Given the description of an element on the screen output the (x, y) to click on. 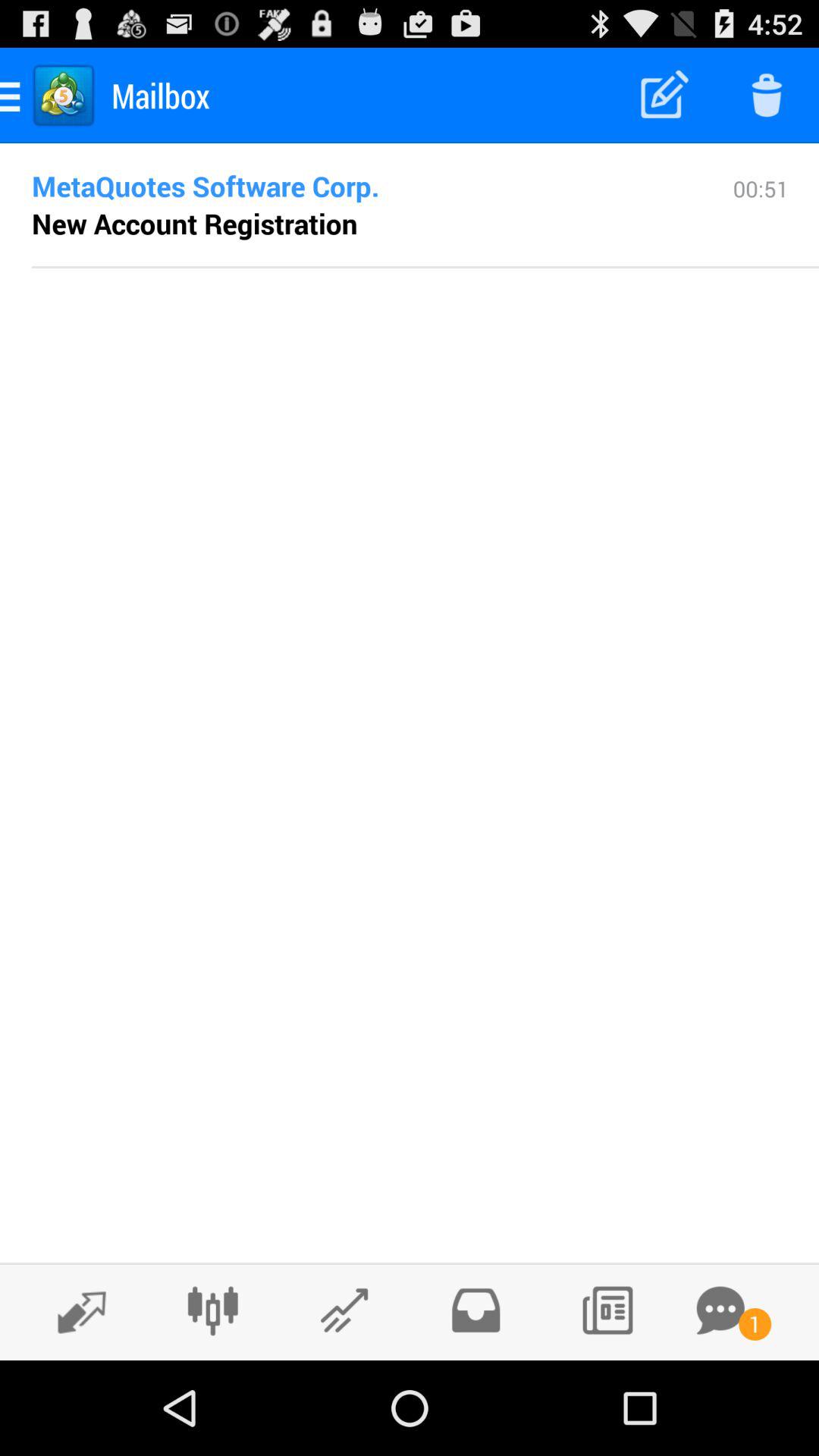
click the item next to the metaquotes software corp. (760, 219)
